Given the description of an element on the screen output the (x, y) to click on. 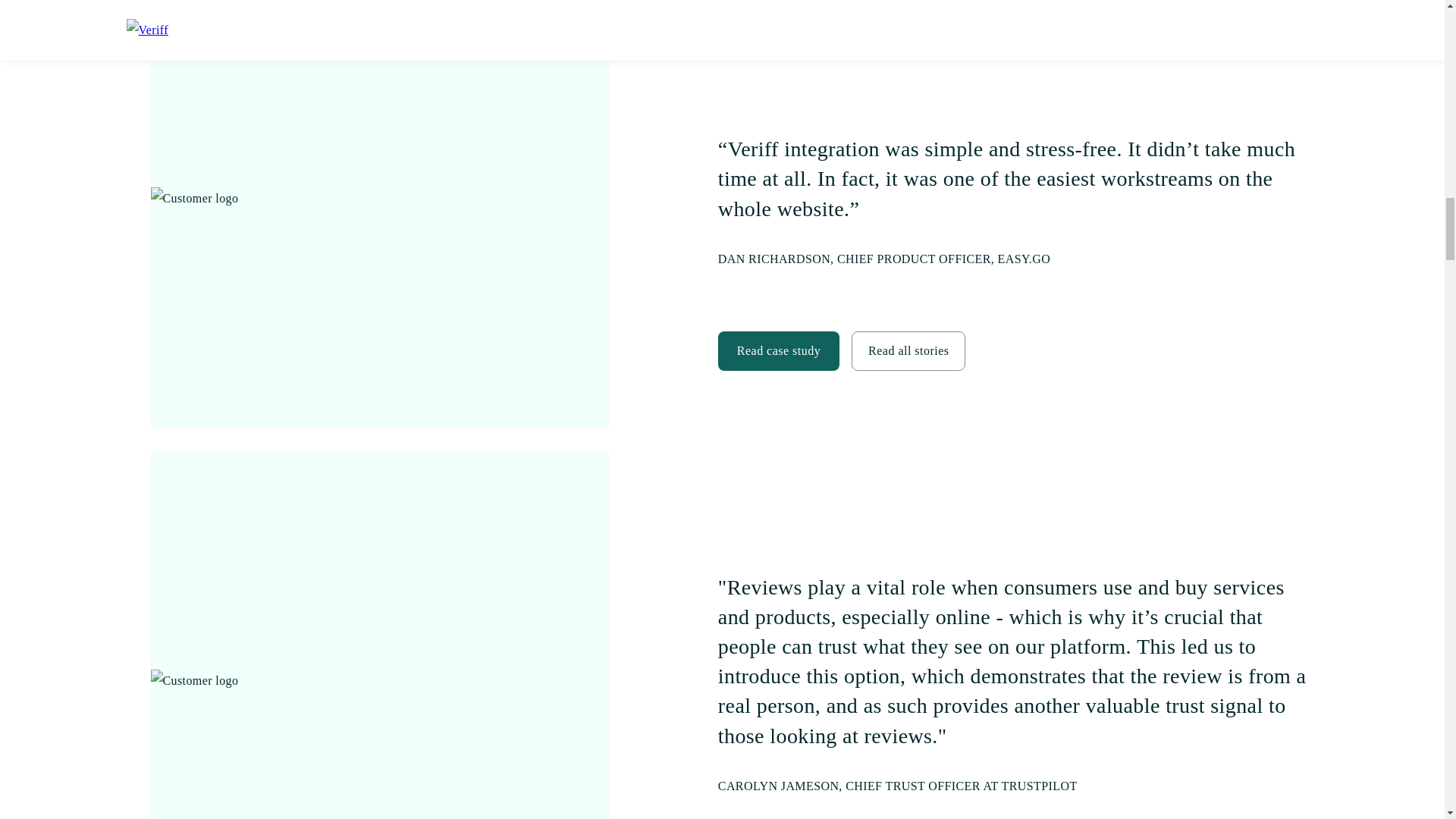
Read all stories (908, 349)
Read case study (778, 349)
Read case study (778, 351)
Read all stories (908, 351)
